Given the description of an element on the screen output the (x, y) to click on. 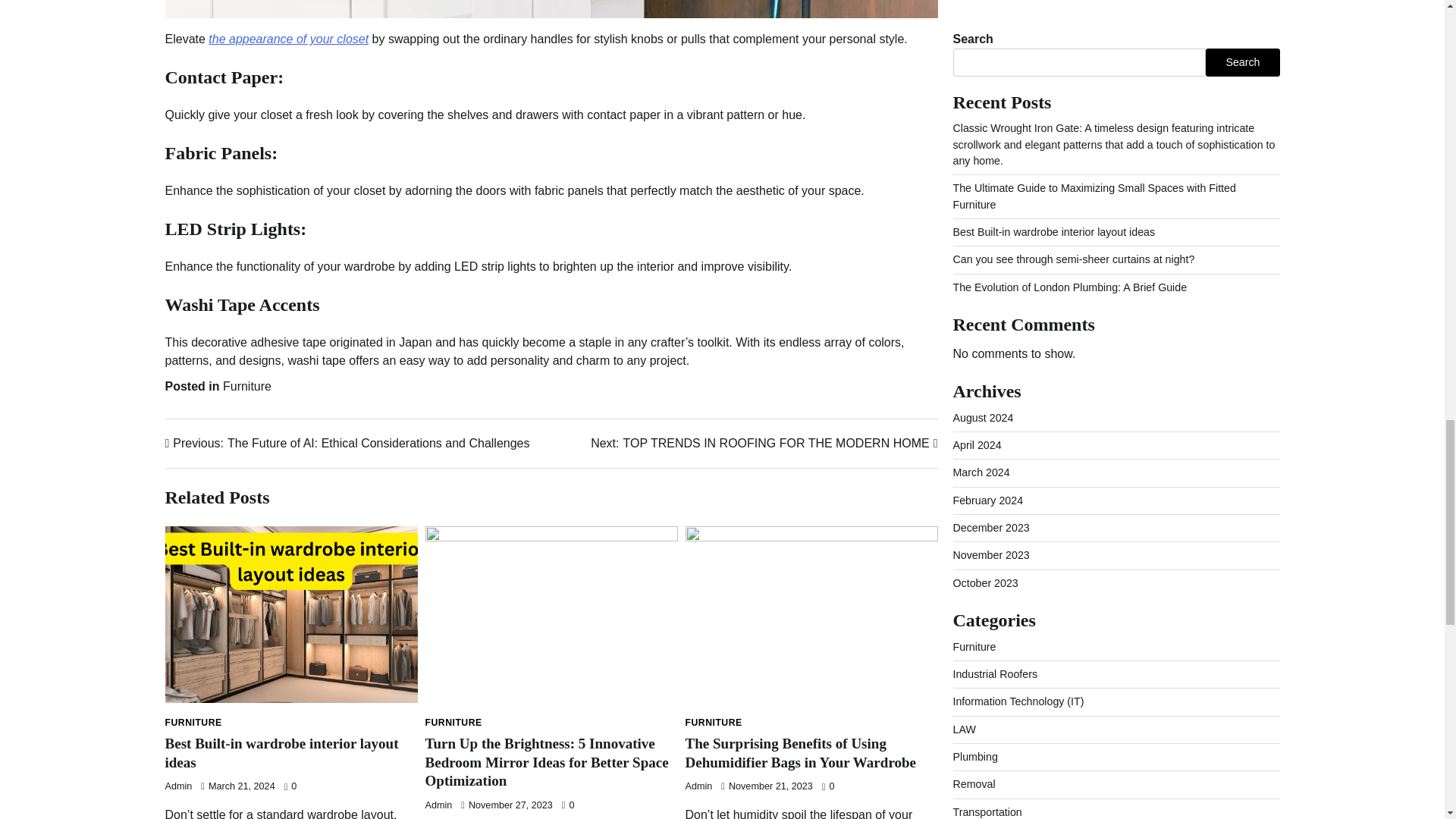
Admin (699, 786)
FURNITURE (193, 722)
Admin (438, 805)
Furniture (246, 386)
Best Built-in wardrobe interior layout ideas (281, 752)
Admin (178, 786)
